Given the description of an element on the screen output the (x, y) to click on. 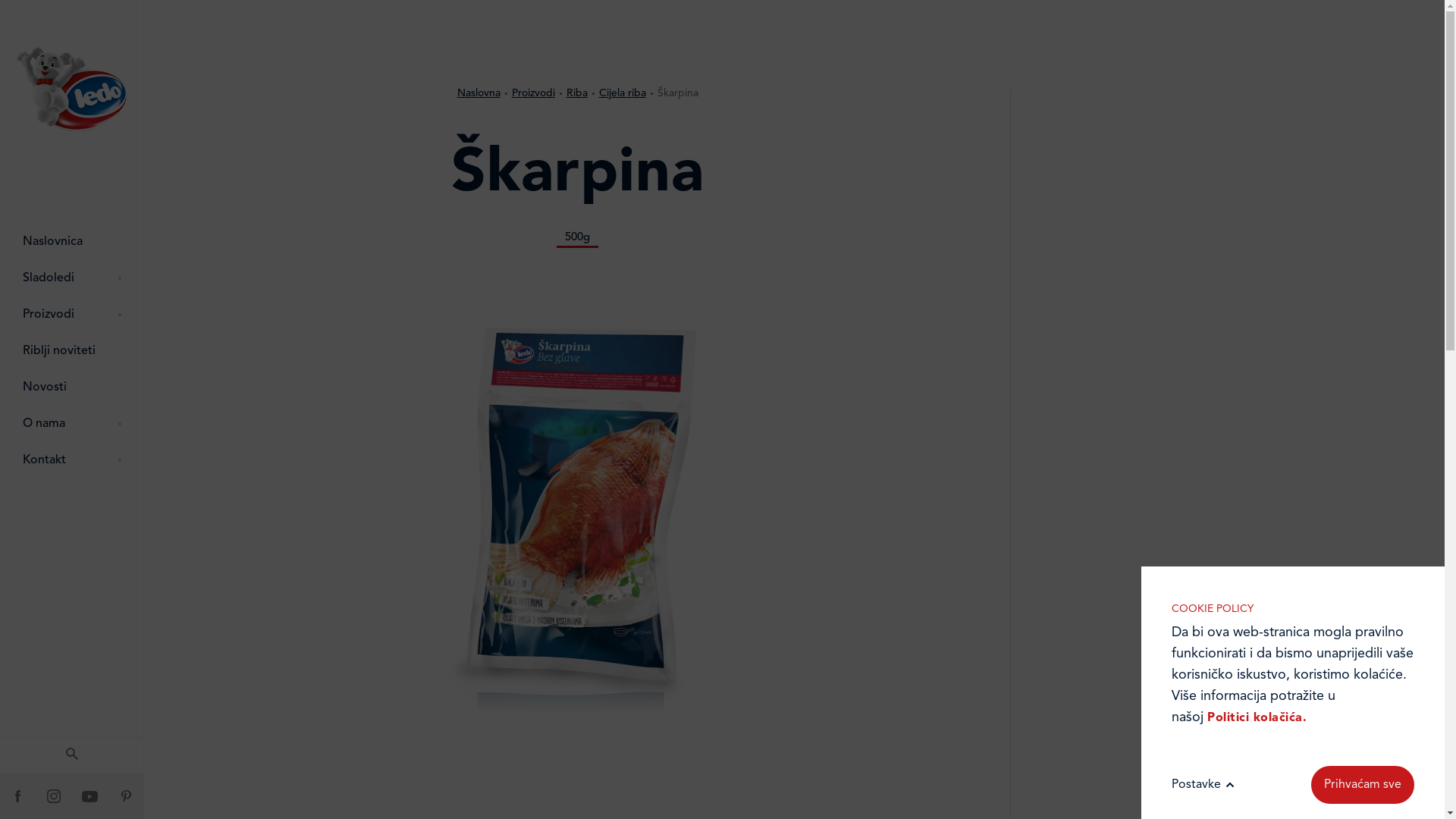
Naslovnica Element type: text (71, 241)
Novosti Element type: text (71, 387)
Postavke Element type: text (1205, 784)
Riblji noviteti Element type: text (71, 350)
Riba Element type: text (581, 92)
Proizvodi Element type: text (537, 92)
Sladoledi Element type: text (71, 278)
Cijela riba Element type: text (627, 92)
500g Element type: text (577, 237)
Kontakt Element type: text (71, 460)
Proizvodi Element type: text (71, 314)
Naslovna Element type: text (483, 92)
O nama Element type: text (71, 423)
